Given the description of an element on the screen output the (x, y) to click on. 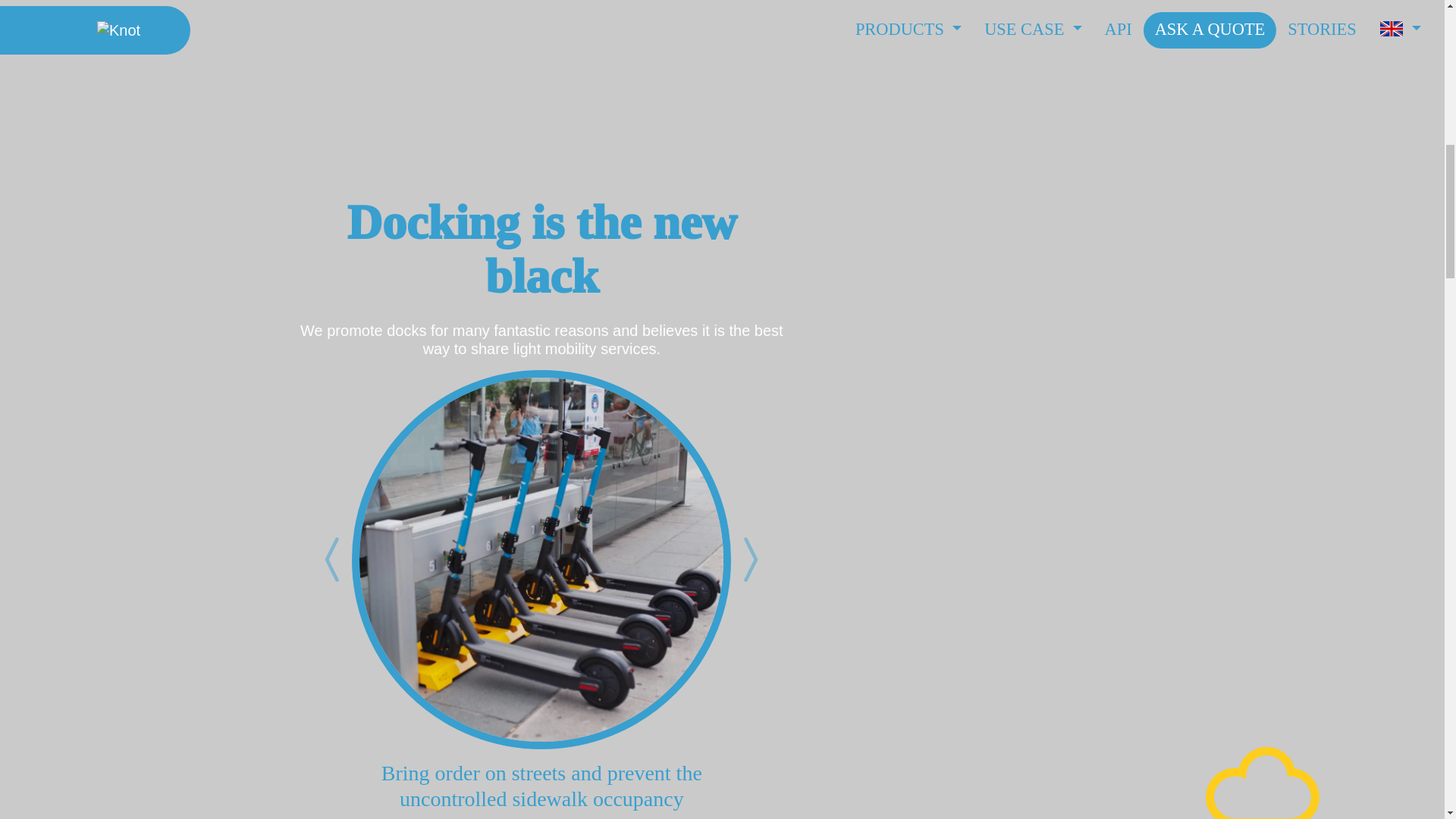
Next (749, 559)
Previous (333, 559)
